Given the description of an element on the screen output the (x, y) to click on. 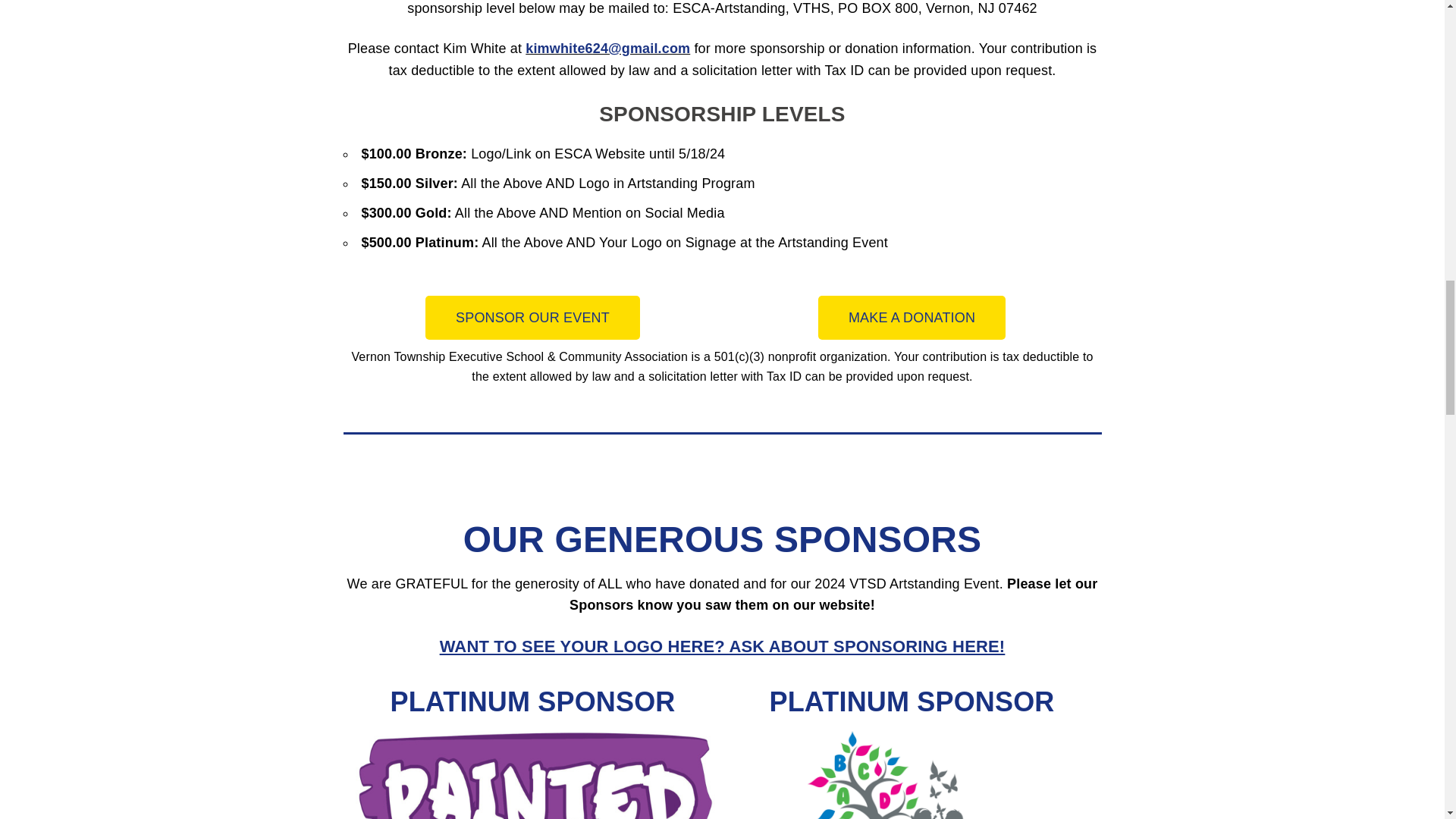
SPONSOR OUR EVENT (532, 317)
WANT TO SEE YOUR LOGO HERE? ASK ABOUT SPONSORING HERE! (722, 646)
MAKE A DONATION (912, 317)
